Given the description of an element on the screen output the (x, y) to click on. 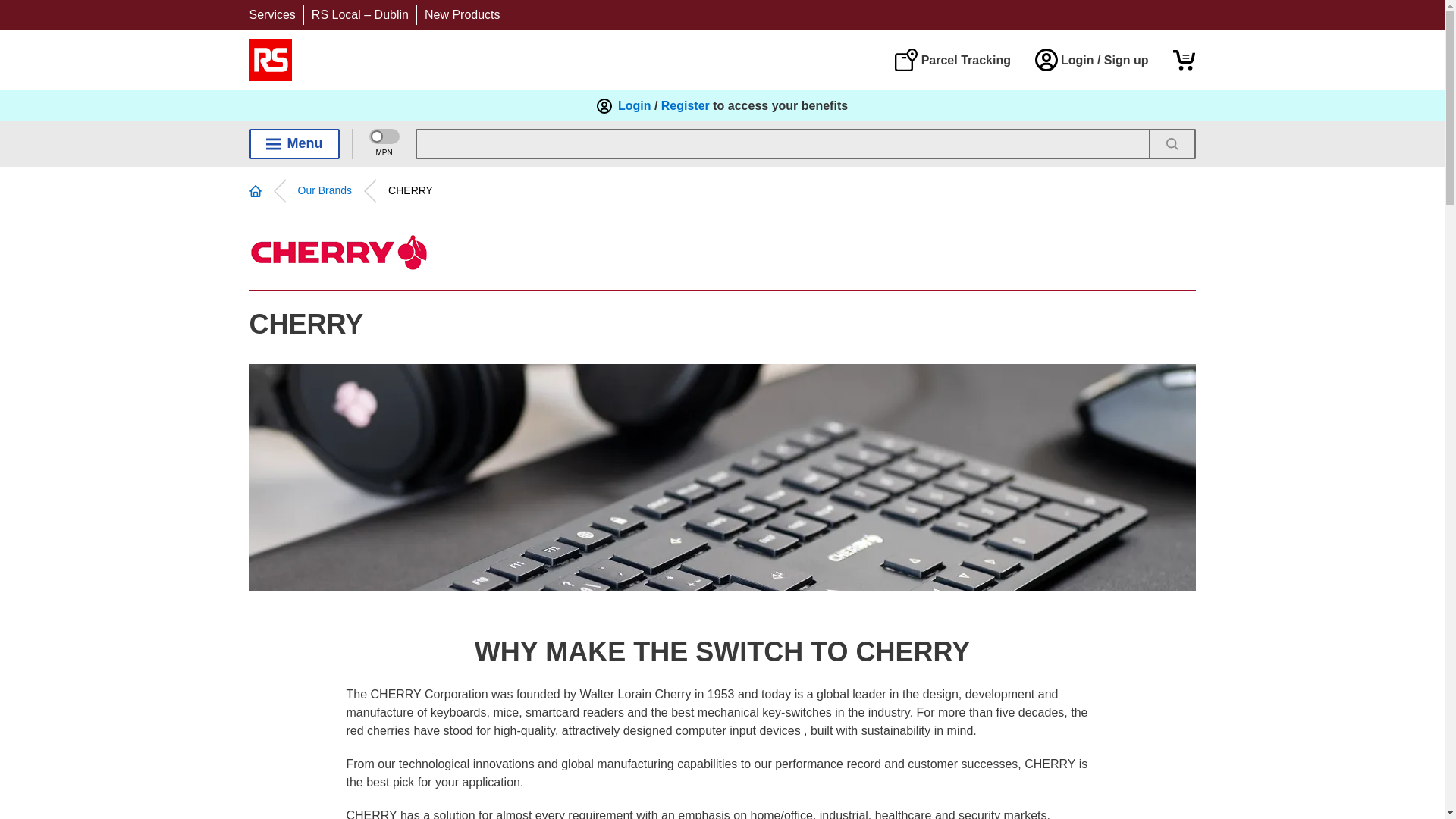
Parcel Tracking (951, 59)
Login (633, 105)
New Products (462, 14)
Register (685, 105)
Services (271, 14)
Menu (293, 143)
